Given the description of an element on the screen output the (x, y) to click on. 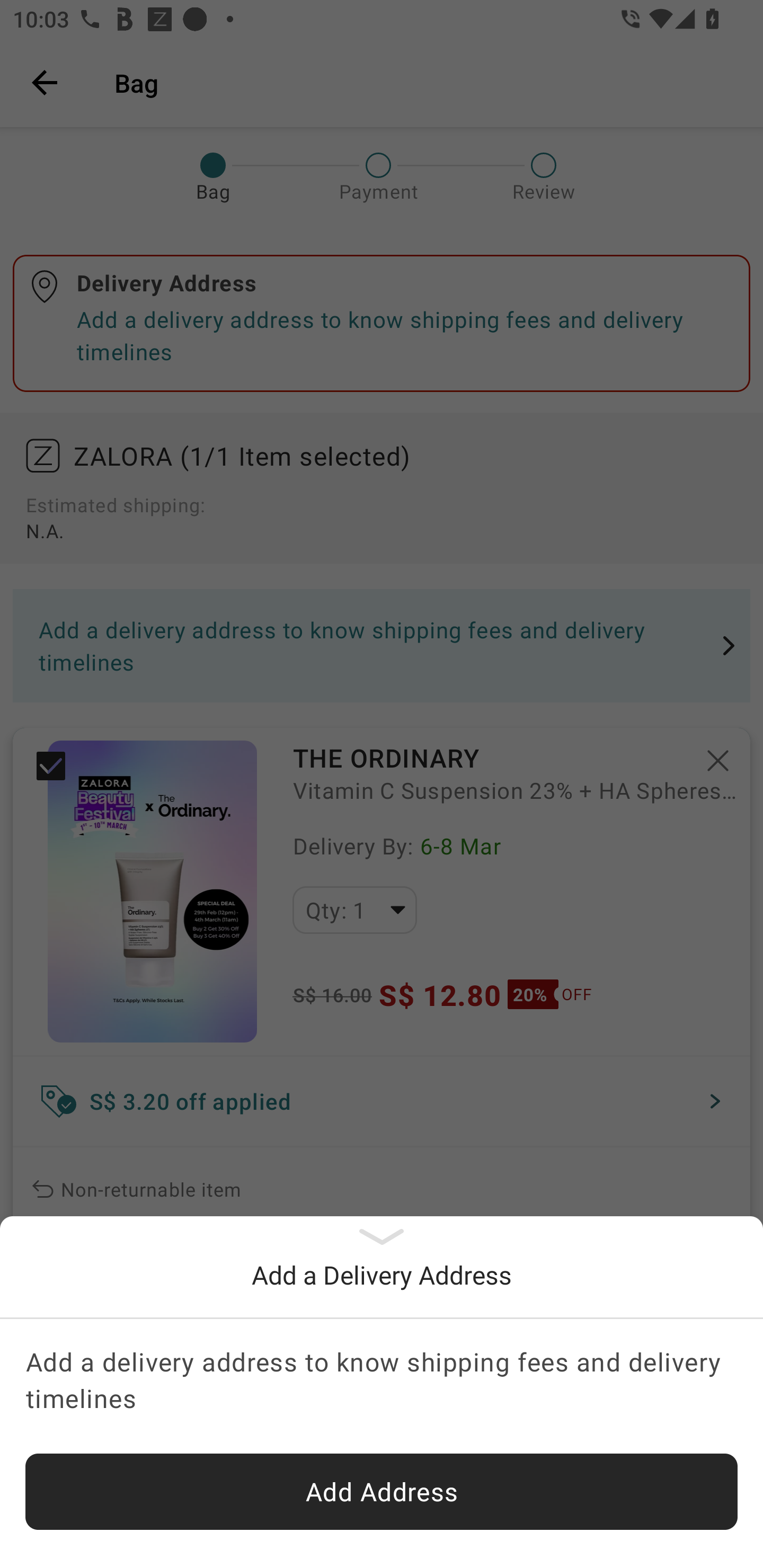
Add Address (381, 1491)
